Given the description of an element on the screen output the (x, y) to click on. 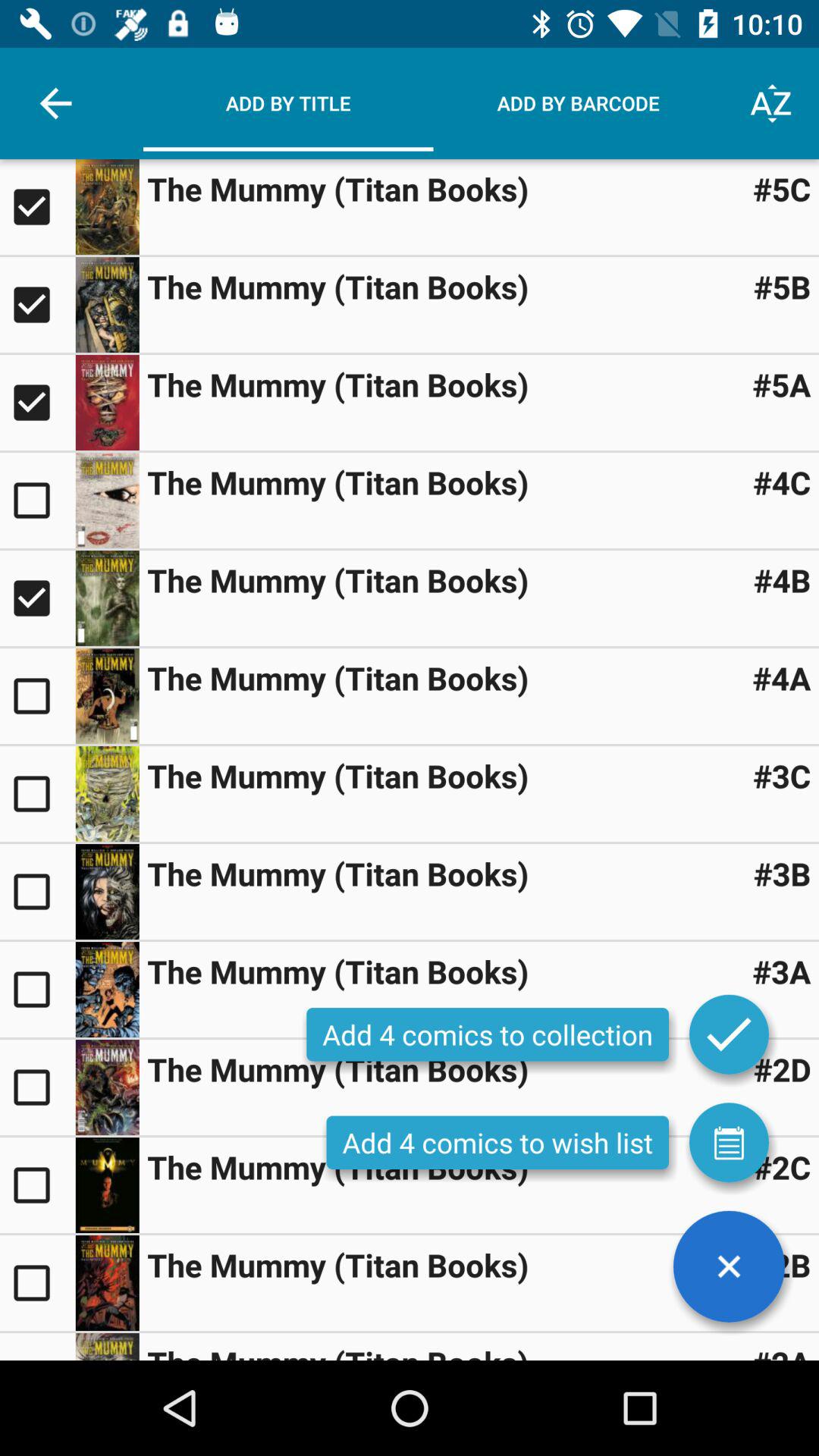
preview item (107, 793)
